Given the description of an element on the screen output the (x, y) to click on. 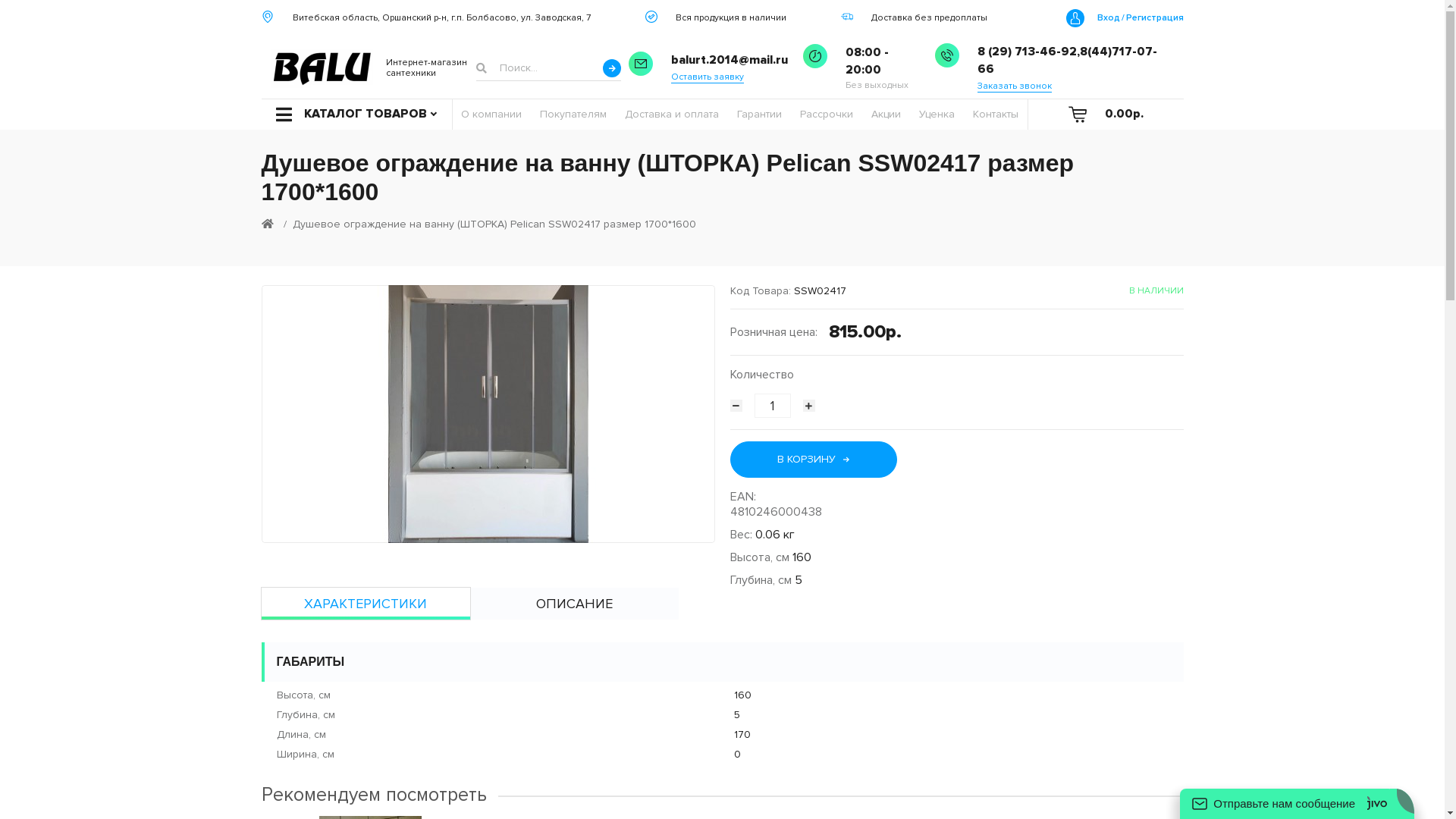
balurt.2014@mail.ru Element type: text (729, 60)
